Given the description of an element on the screen output the (x, y) to click on. 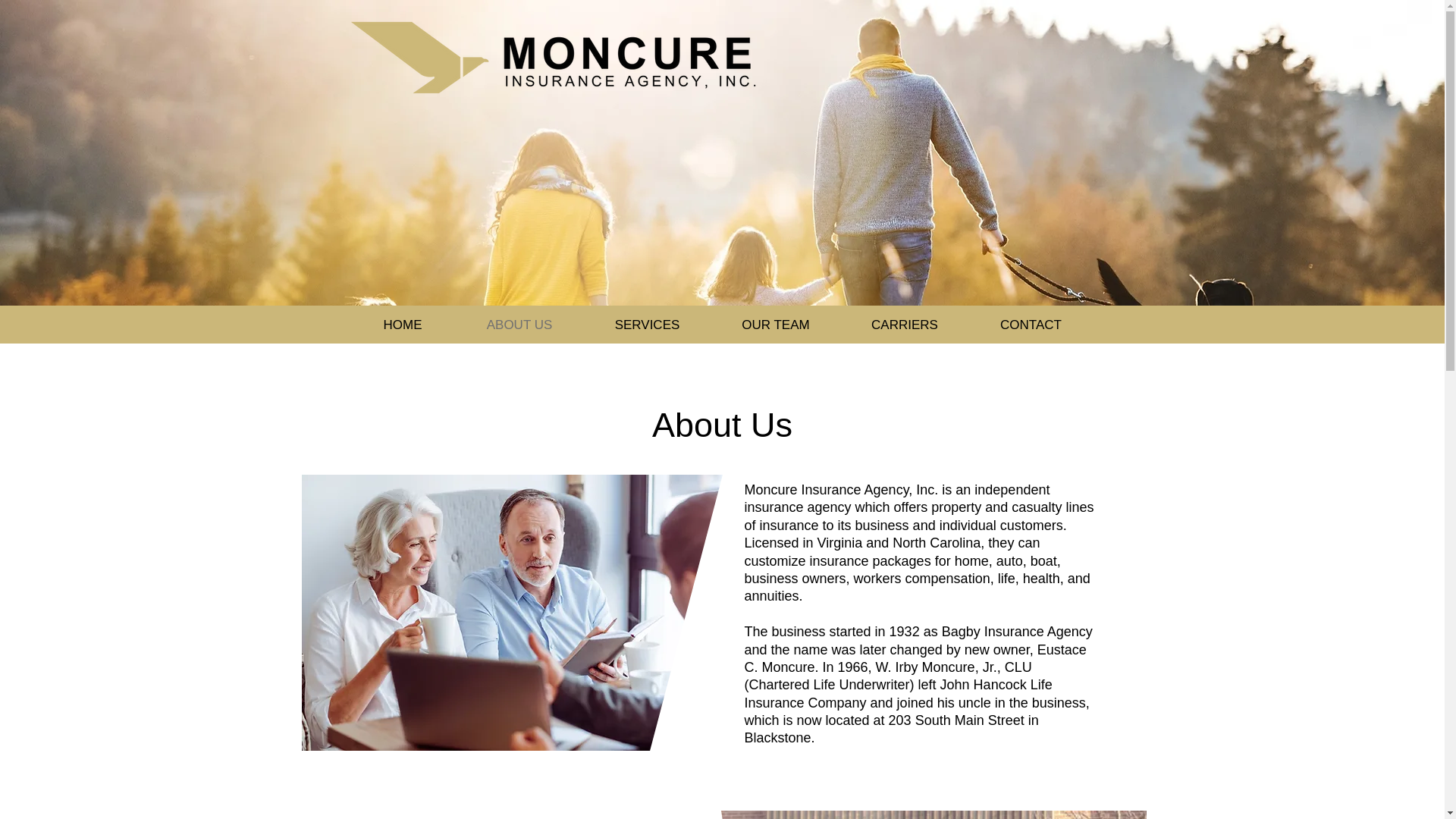
CARRIERS (904, 324)
CONTACT (1030, 324)
SERVICES (646, 324)
OUR TEAM (775, 324)
ABOUT US (519, 324)
HOME (402, 324)
